Given the description of an element on the screen output the (x, y) to click on. 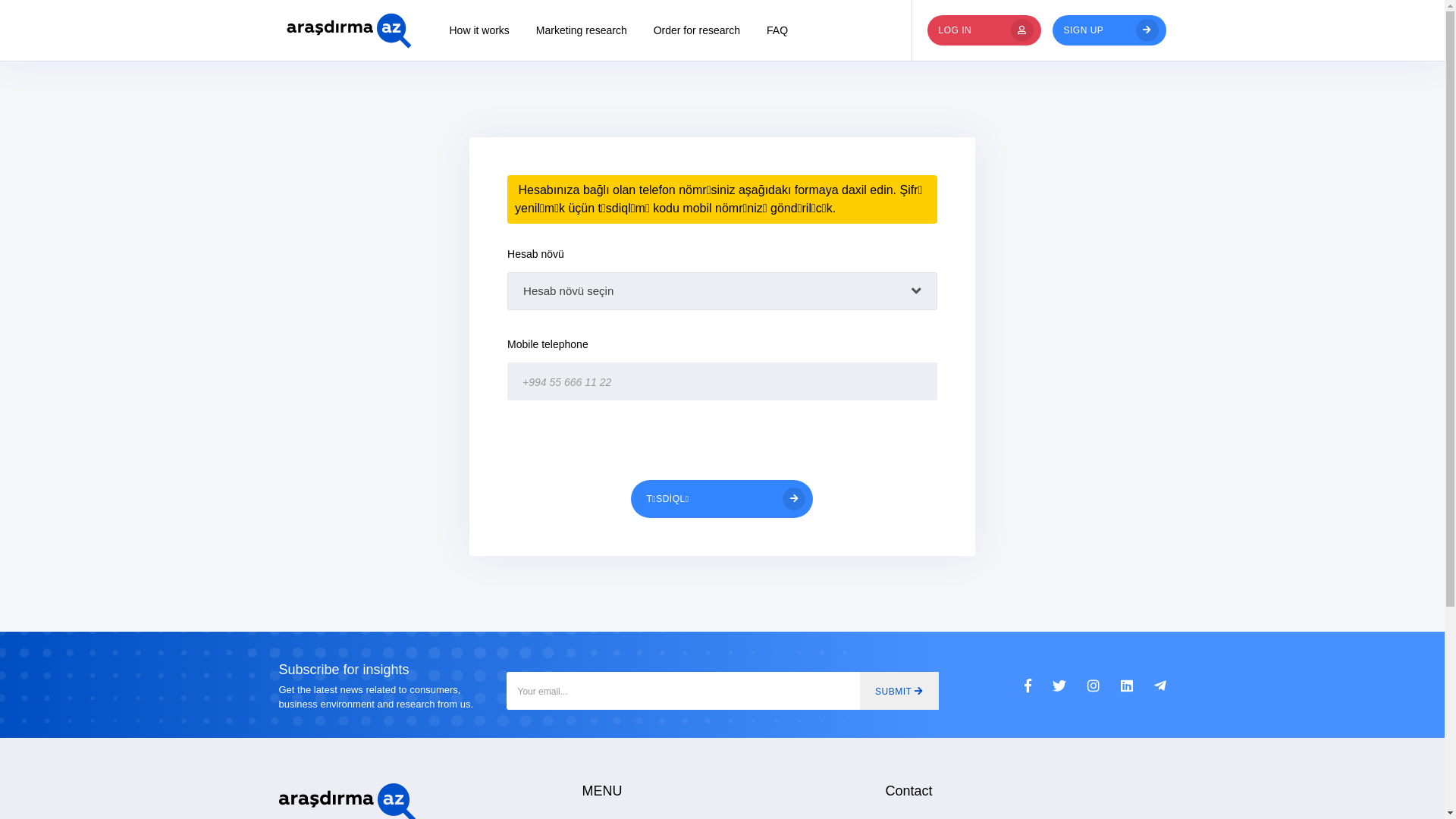
SUBMIT Element type: text (898, 690)
How it works Element type: text (479, 30)
LOG IN Element type: text (983, 30)
SIGN UP Element type: text (1109, 30)
Marketing research Element type: text (581, 30)
Order for research Element type: text (696, 30)
FAQ Element type: text (777, 30)
